Given the description of an element on the screen output the (x, y) to click on. 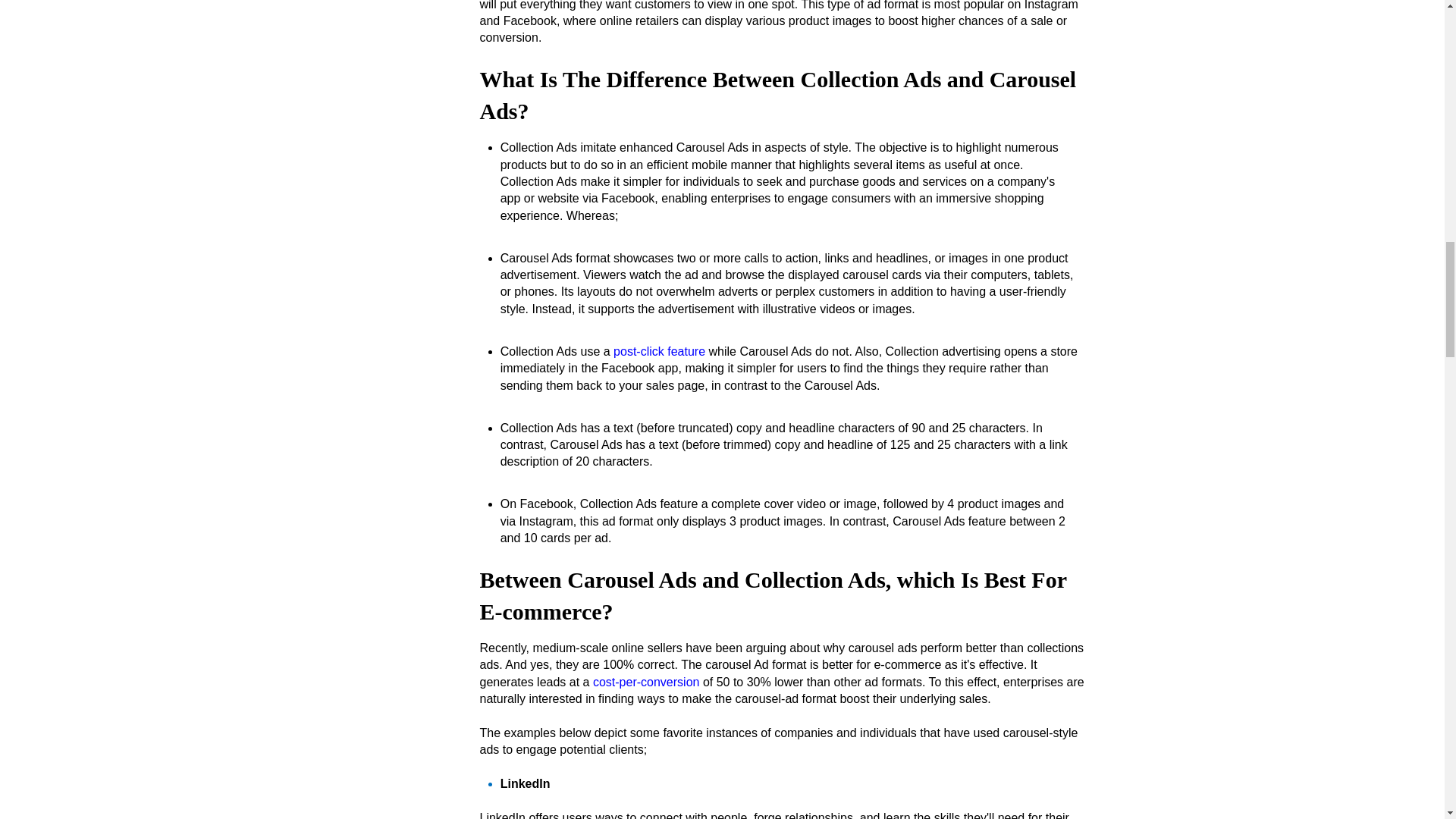
post-click feature (658, 350)
cost-per-conversion (646, 681)
